Given the description of an element on the screen output the (x, y) to click on. 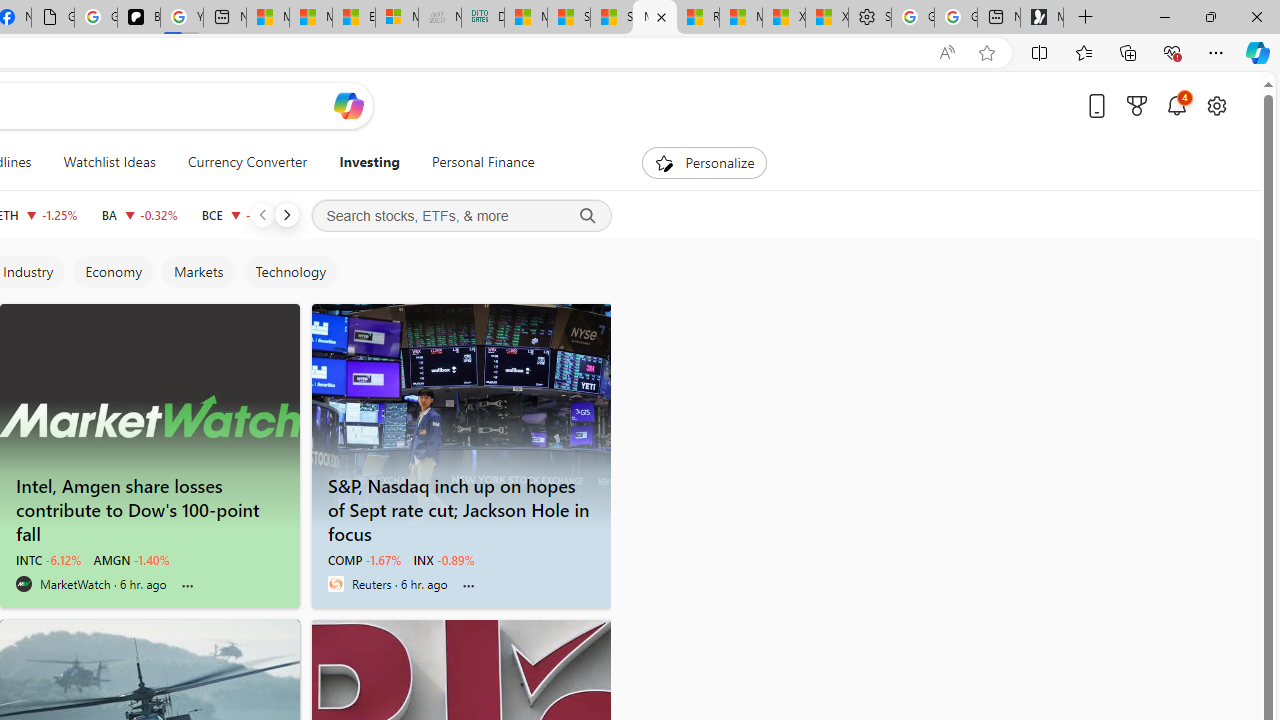
Reuters (335, 583)
Investing (369, 162)
R******* | Trusted Community Engagement and Contributions (698, 17)
Watchlist Ideas (109, 162)
Personal Finance (474, 162)
Currency Converter (247, 162)
